Given the description of an element on the screen output the (x, y) to click on. 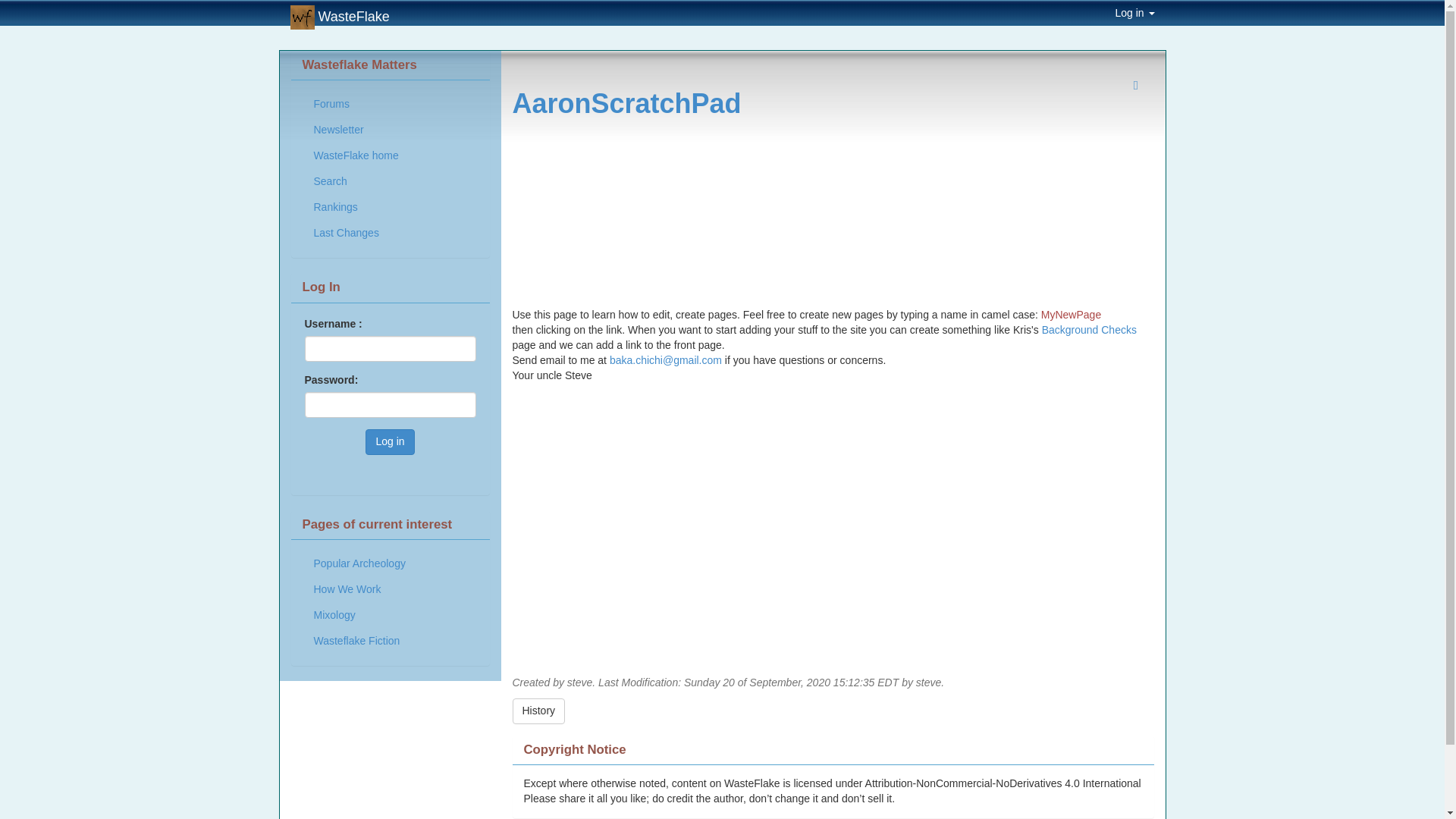
Background Checks (1089, 329)
WasteFlake (340, 12)
MyNewPage (1070, 314)
History (539, 710)
Wasteflake Fiction (358, 641)
refresh (626, 102)
Popular Archeology (358, 564)
Mixology (358, 615)
Search (355, 181)
Log in (389, 442)
Last Changes (355, 233)
AaronScratchPad (626, 102)
How We Work (358, 589)
Newsletter (355, 130)
Log in (1134, 12)
